Given the description of an element on the screen output the (x, y) to click on. 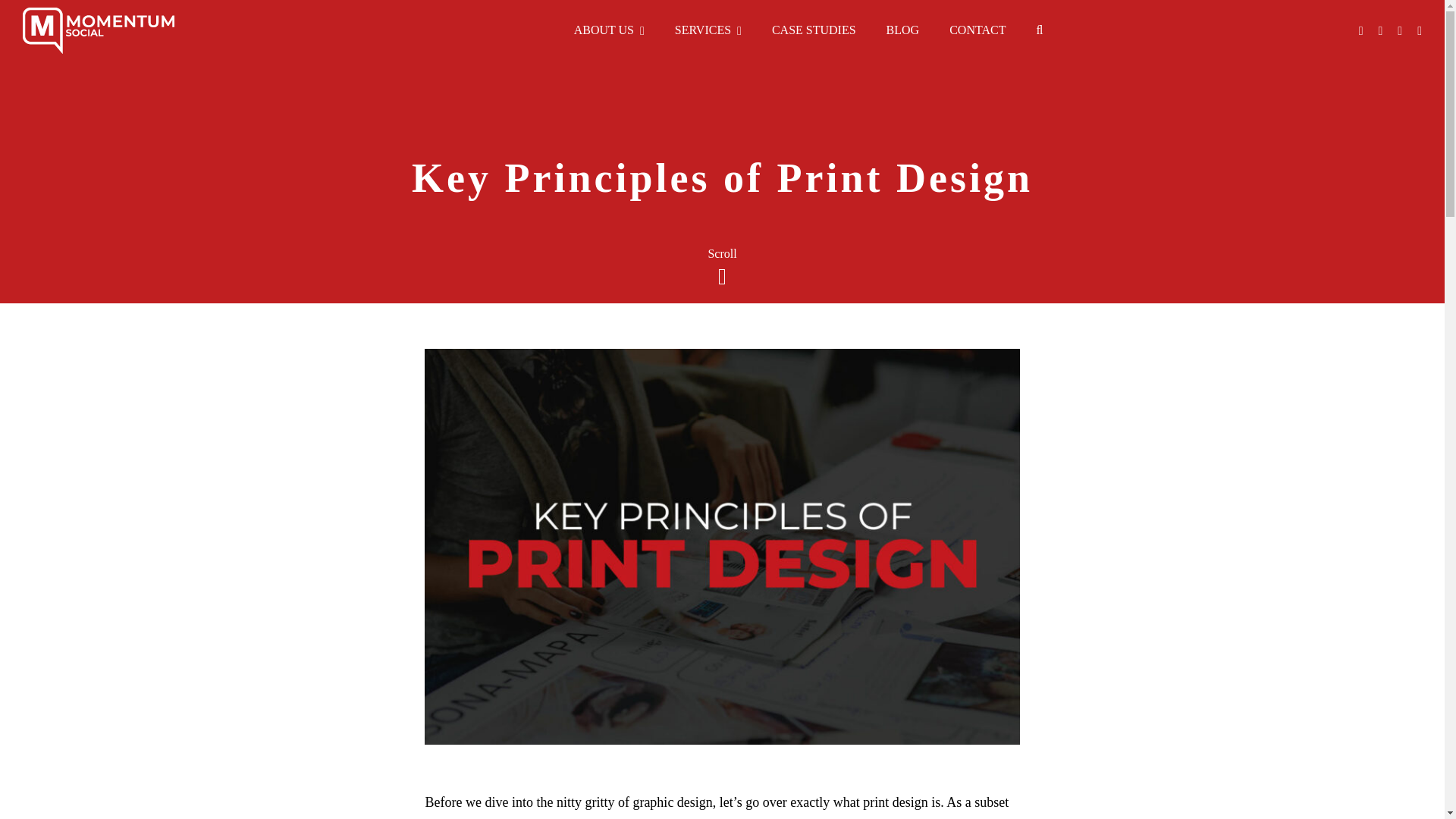
SERVICES (708, 29)
CASE STUDIES (813, 29)
BLOG (902, 29)
CONTACT (977, 29)
ABOUT US (609, 29)
